Given the description of an element on the screen output the (x, y) to click on. 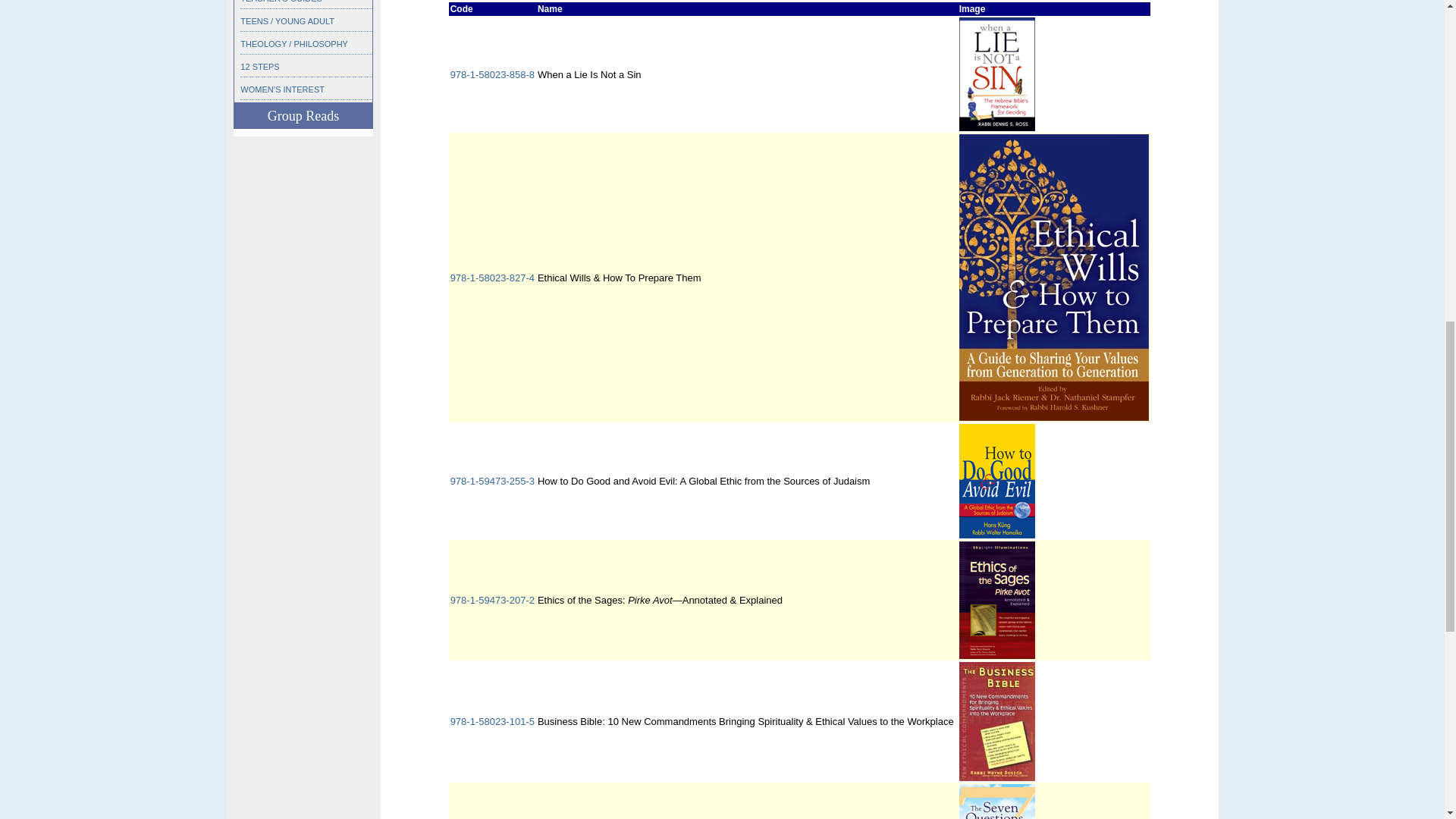
12 STEPS (259, 66)
